Given the description of an element on the screen output the (x, y) to click on. 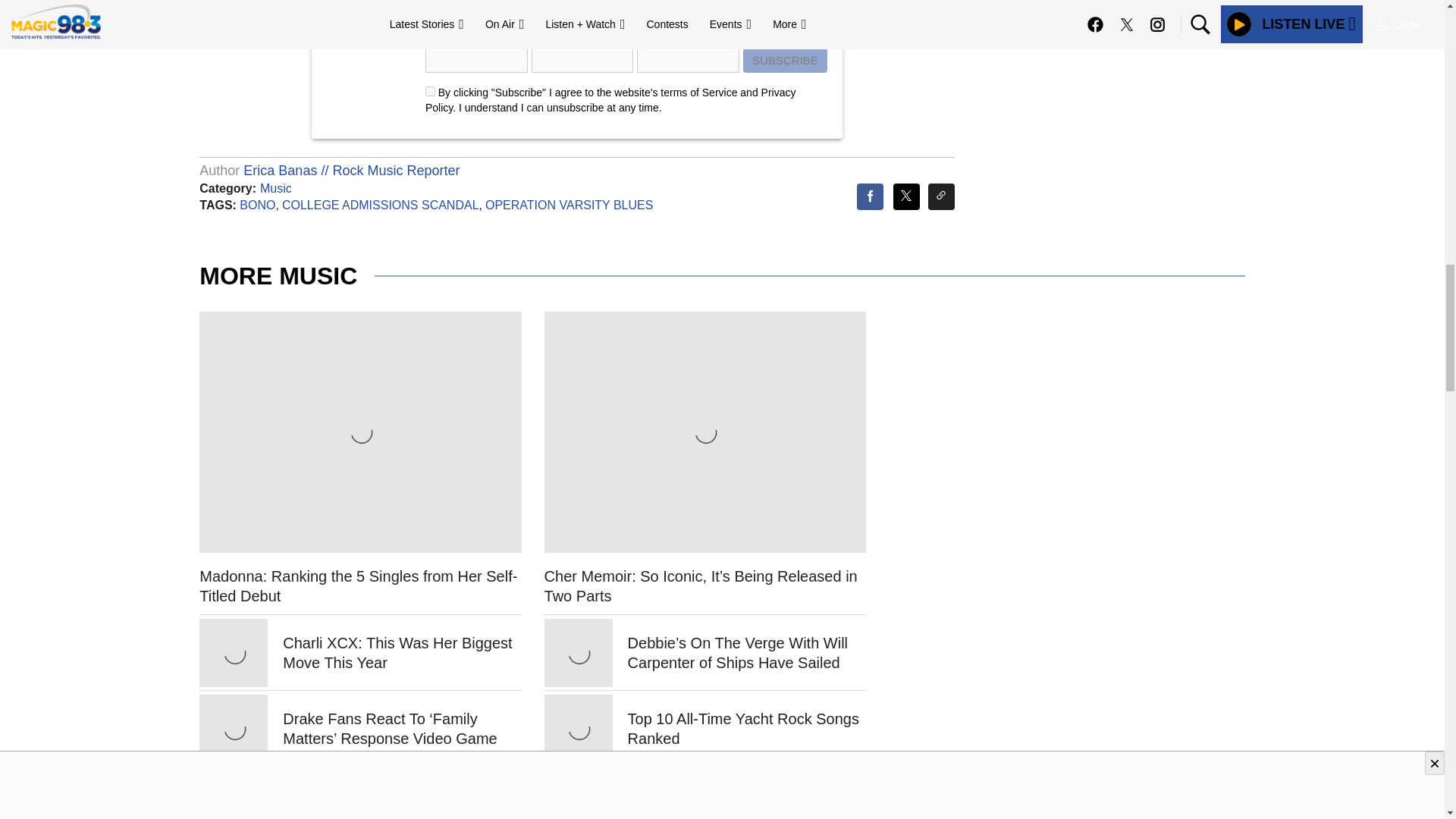
on (430, 91)
